Given the description of an element on the screen output the (x, y) to click on. 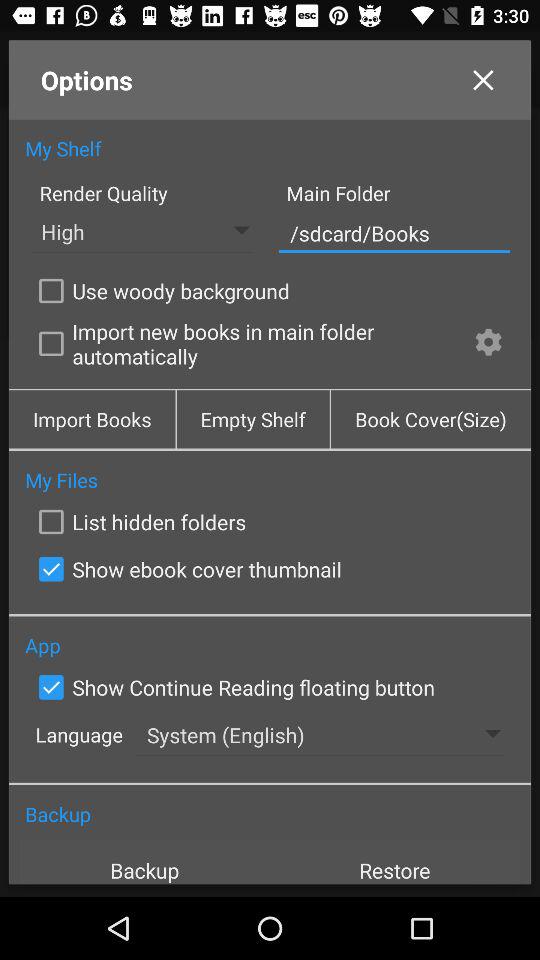
open checkbox above the show ebook cover item (138, 522)
